Given the description of an element on the screen output the (x, y) to click on. 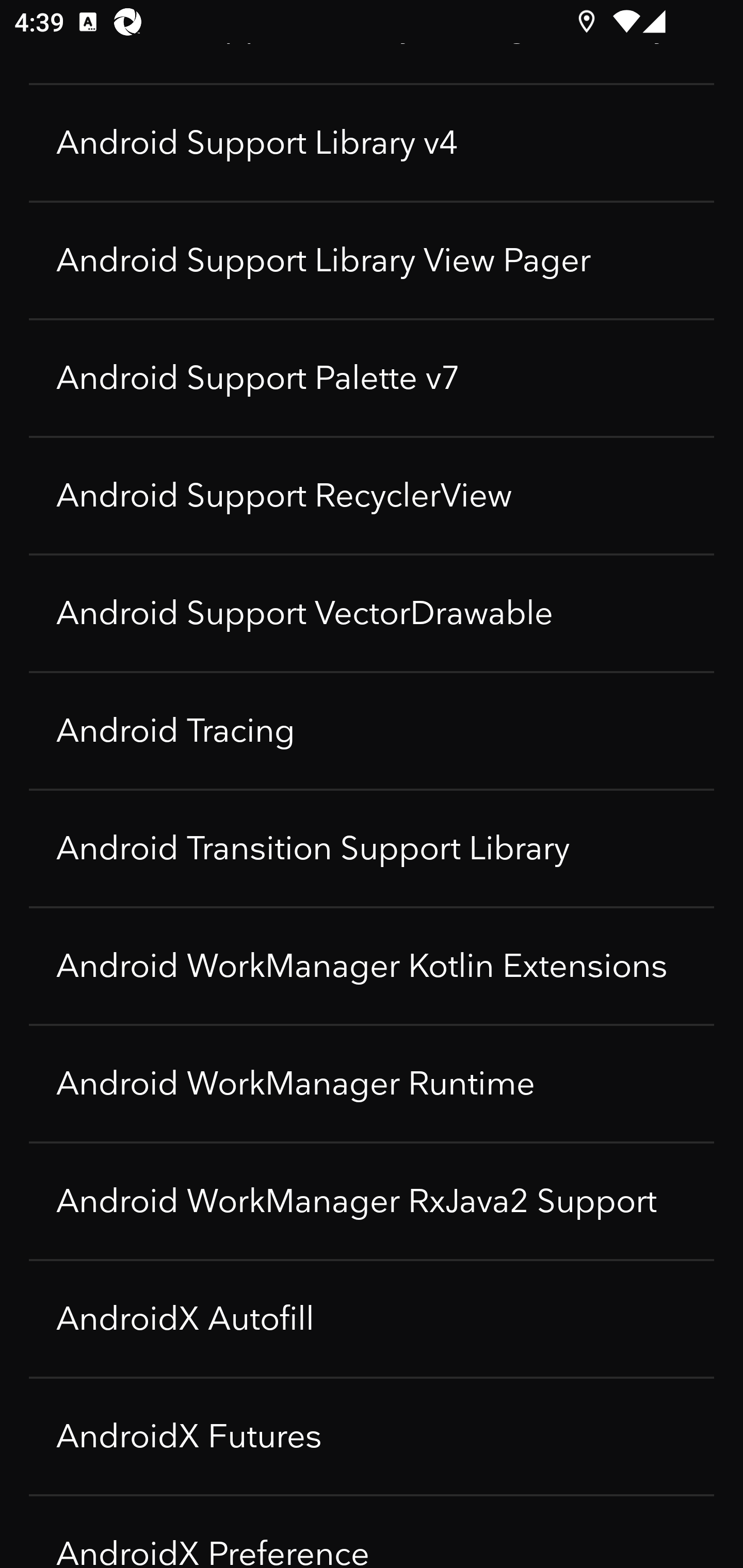
Android Support Library v4 (371, 142)
Android Support Library View Pager (371, 260)
Android Support Palette v7 (371, 377)
Android Support RecyclerView (371, 495)
Android Support VectorDrawable (371, 613)
Android Tracing (371, 730)
Android Transition Support Library (371, 848)
Android WorkManager Kotlin Extensions (371, 965)
Android WorkManager Runtime (371, 1083)
Android WorkManager RxJava2 Support (371, 1201)
AndroidX Autofill (371, 1318)
AndroidX Futures (371, 1436)
AndroidX Preference (371, 1531)
